Given the description of an element on the screen output the (x, y) to click on. 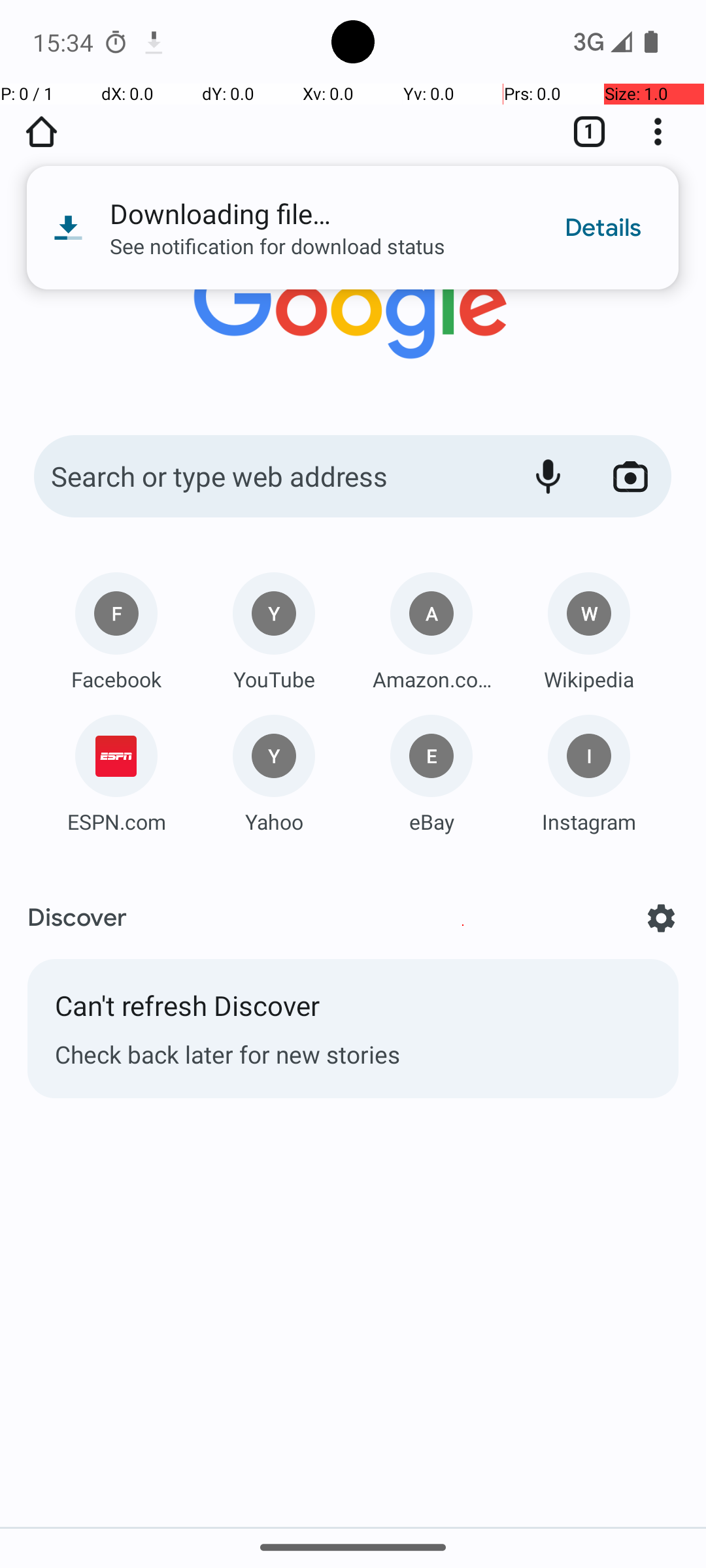
Can't refresh Discover Element type: android.widget.TextView (352, 1011)
Check back later for new stories Element type: android.widget.TextView (352, 1053)
Downloading file… Element type: android.widget.TextView (318, 220)
See notification for download status Element type: android.widget.TextView (318, 253)
Chrome notification: m.youtube.com Element type: android.widget.ImageView (153, 41)
